Given the description of an element on the screen output the (x, y) to click on. 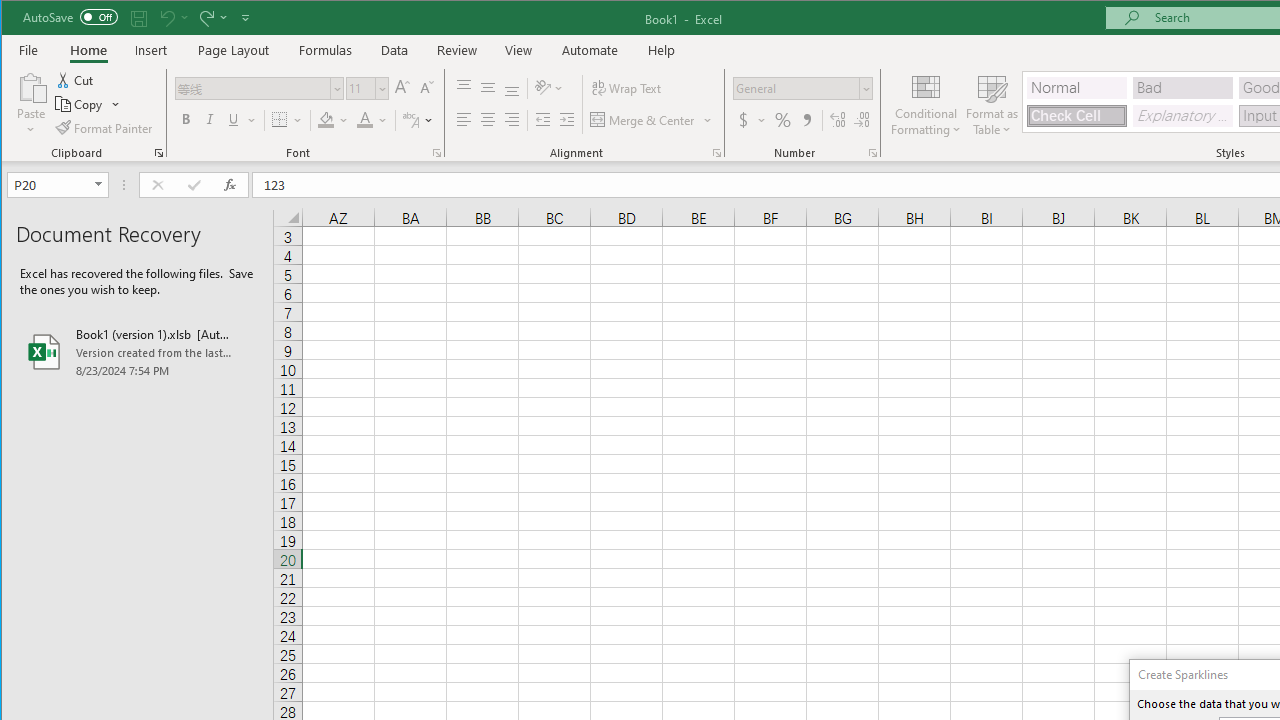
Fill Color (333, 119)
Number Format (795, 88)
Bold (186, 119)
Comma Style (806, 119)
Book1 (version 1).xlsb  [AutoRecovered] (137, 352)
Font Color (372, 119)
Accounting Number Format (744, 119)
Decrease Font Size (425, 88)
Merge & Center (644, 119)
Font Size (367, 88)
Align Left (463, 119)
Format Cell Number (872, 152)
